Given the description of an element on the screen output the (x, y) to click on. 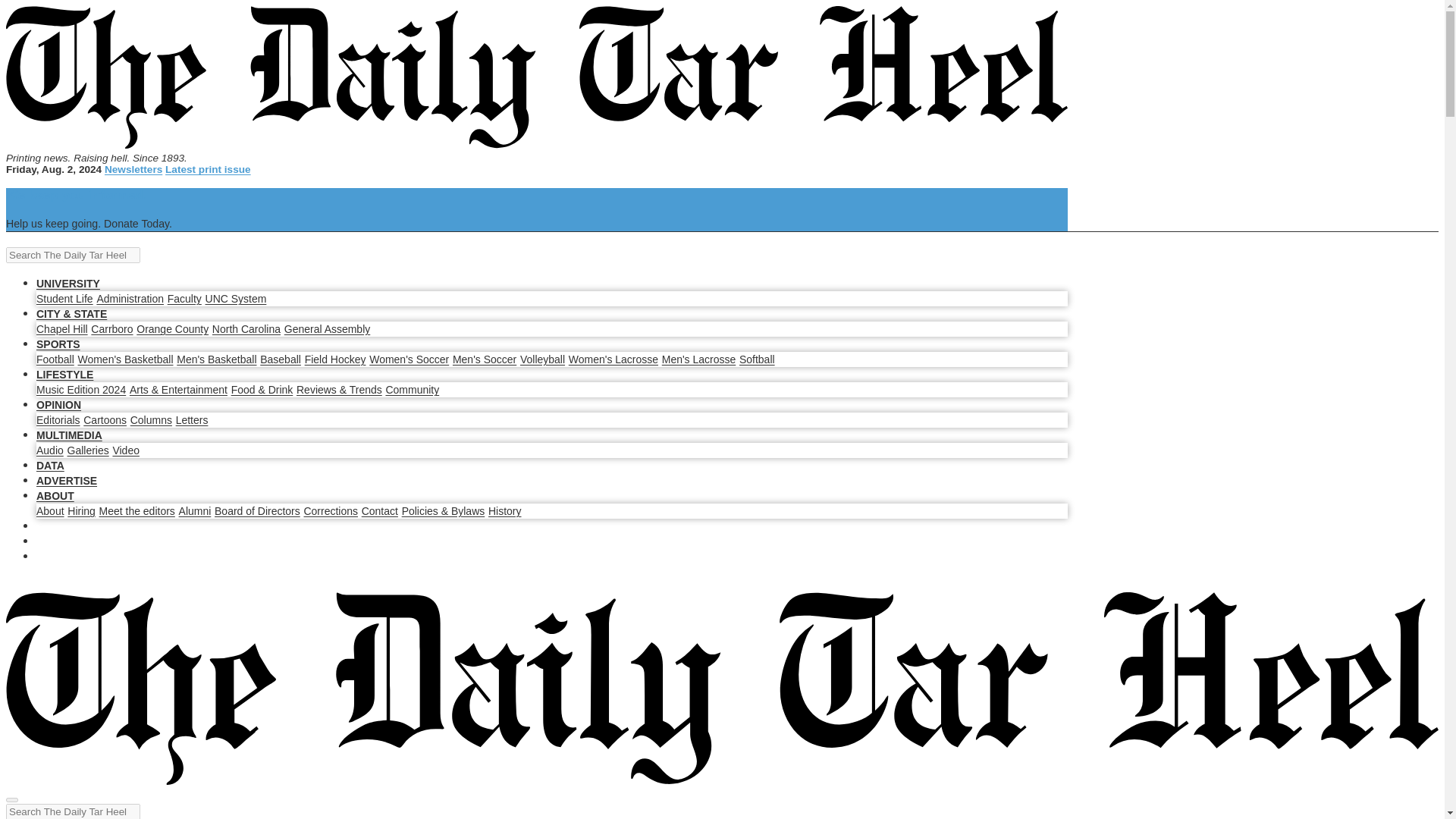
Baseball (280, 358)
SPORTS (58, 344)
Data (50, 465)
Men's Basketball (216, 358)
Volleyball (541, 358)
Editorials (58, 419)
Newsletters (132, 169)
Advertise (66, 480)
Cartoons (104, 419)
We keep you informed. (76, 195)
